Given the description of an element on the screen output the (x, y) to click on. 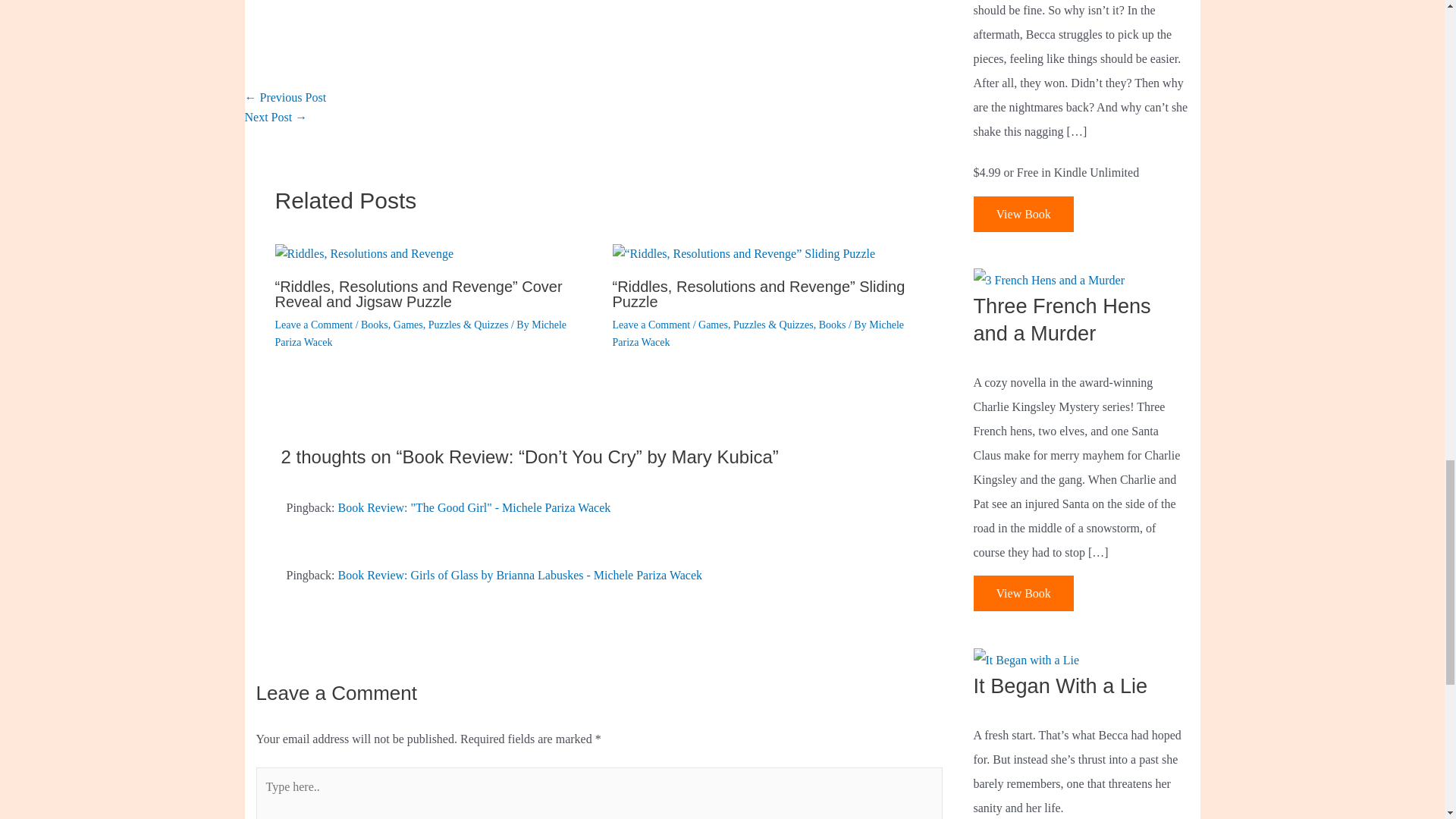
View all posts by Michele Pariza Wacek (420, 333)
The Writing Journey: Cutting Myself off from My Writing Soul (275, 116)
It Began With a Lie (1027, 658)
Three French Hens and a Murder (1049, 278)
View all posts by Michele Pariza Wacek (758, 333)
